Given the description of an element on the screen output the (x, y) to click on. 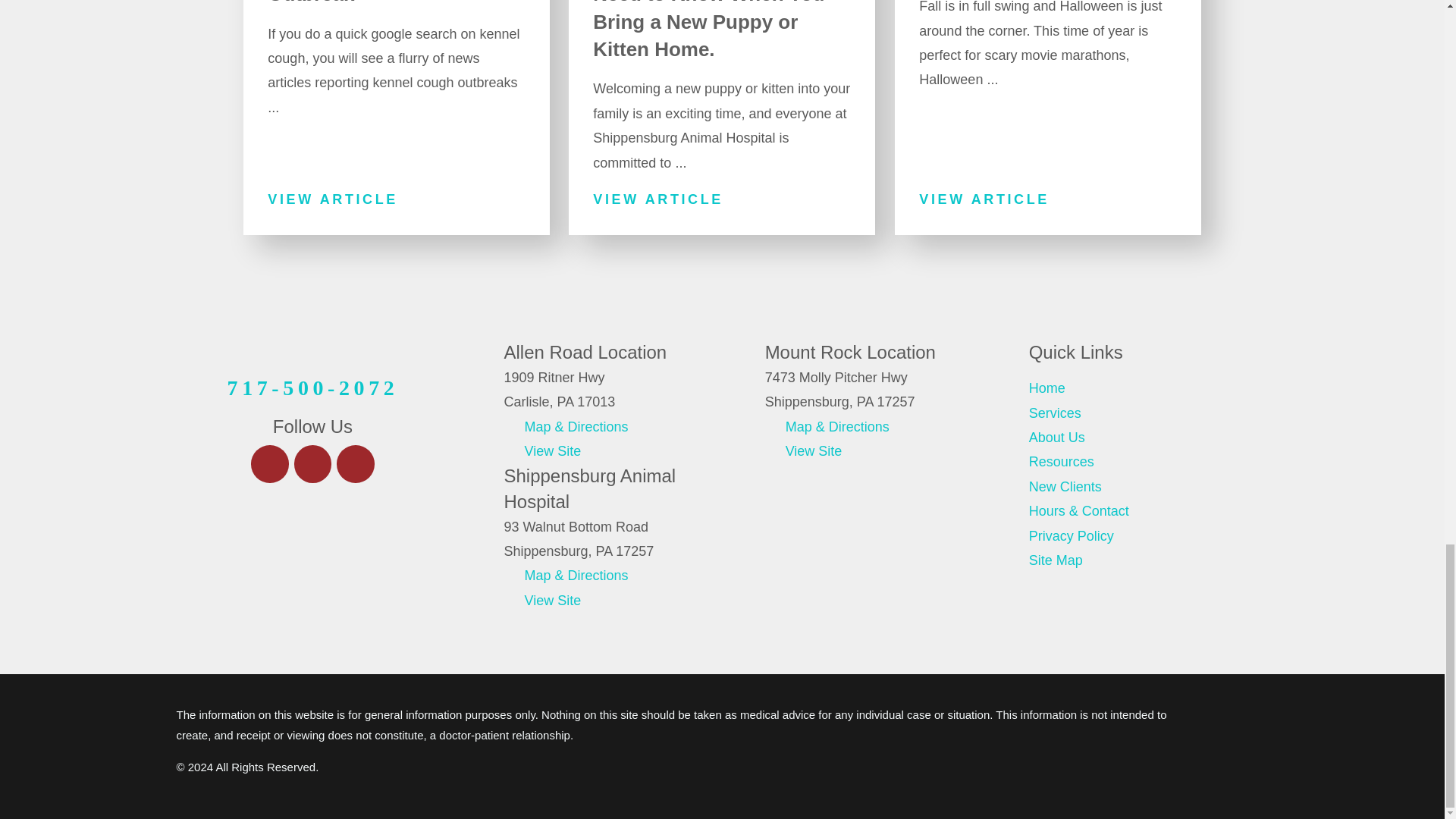
Facebook (269, 464)
Yelp (312, 464)
Google Business Profile (355, 464)
